Given the description of an element on the screen output the (x, y) to click on. 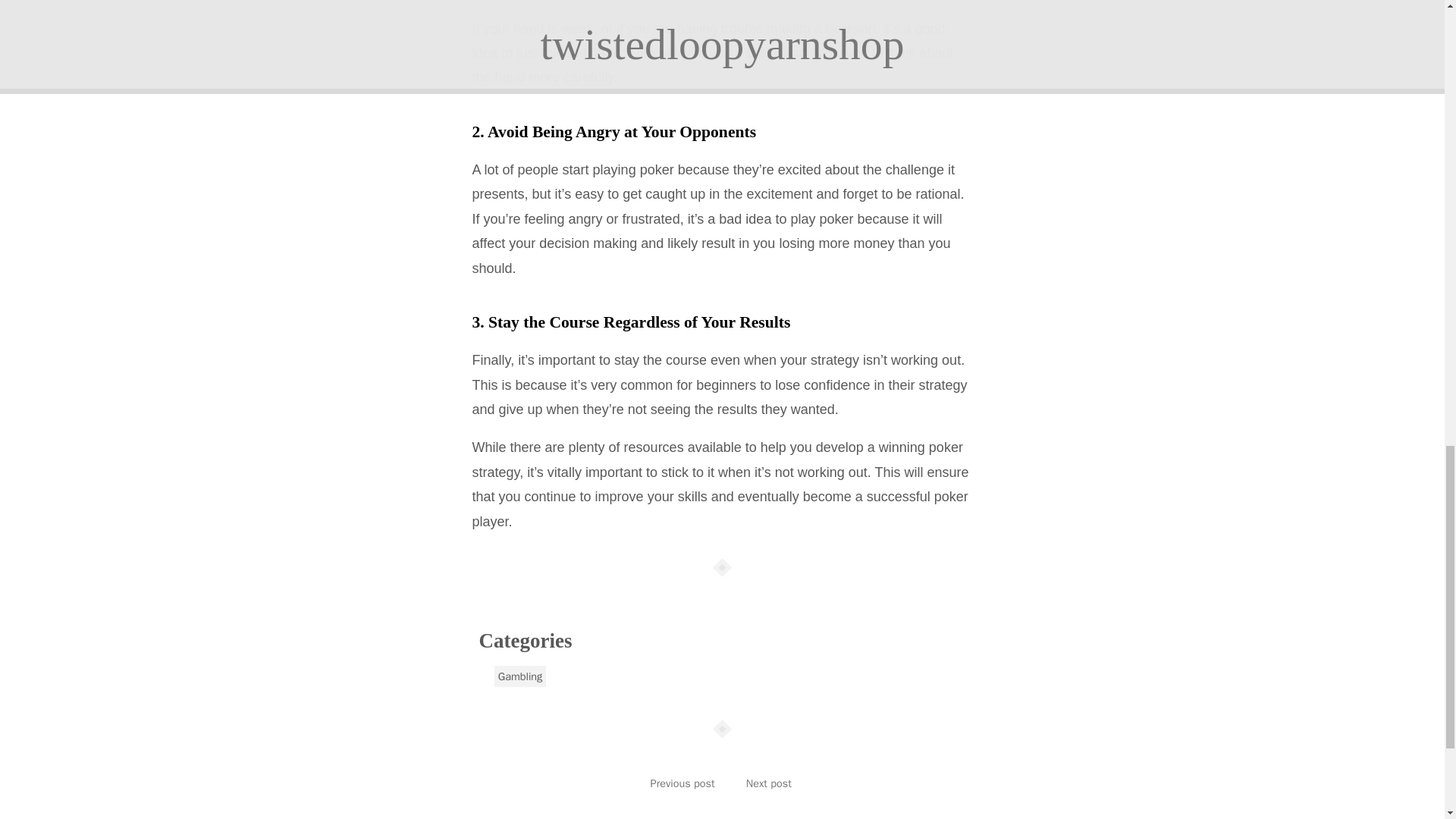
Previous post (682, 783)
Next post (768, 783)
Gambling (521, 676)
